Given the description of an element on the screen output the (x, y) to click on. 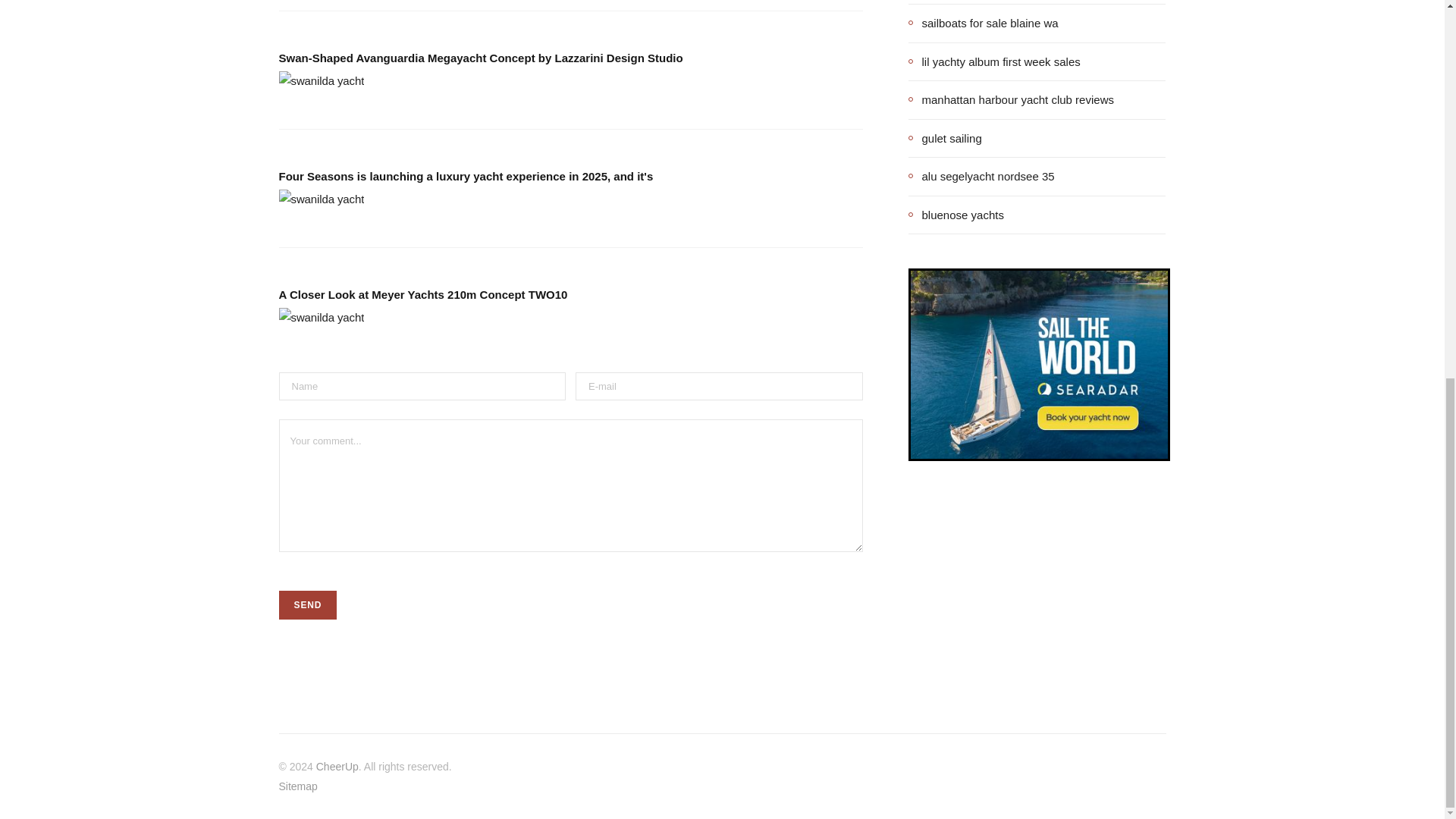
bluenose yachts (956, 214)
CheerUp (336, 766)
gulet sailing (944, 138)
Send (308, 604)
alu segelyacht nordsee 35 (981, 176)
swanilda yacht (322, 199)
swanilda yacht (322, 80)
Send (308, 604)
swanilda yacht (322, 317)
manhattan harbour yacht club reviews (1010, 99)
